Given the description of an element on the screen output the (x, y) to click on. 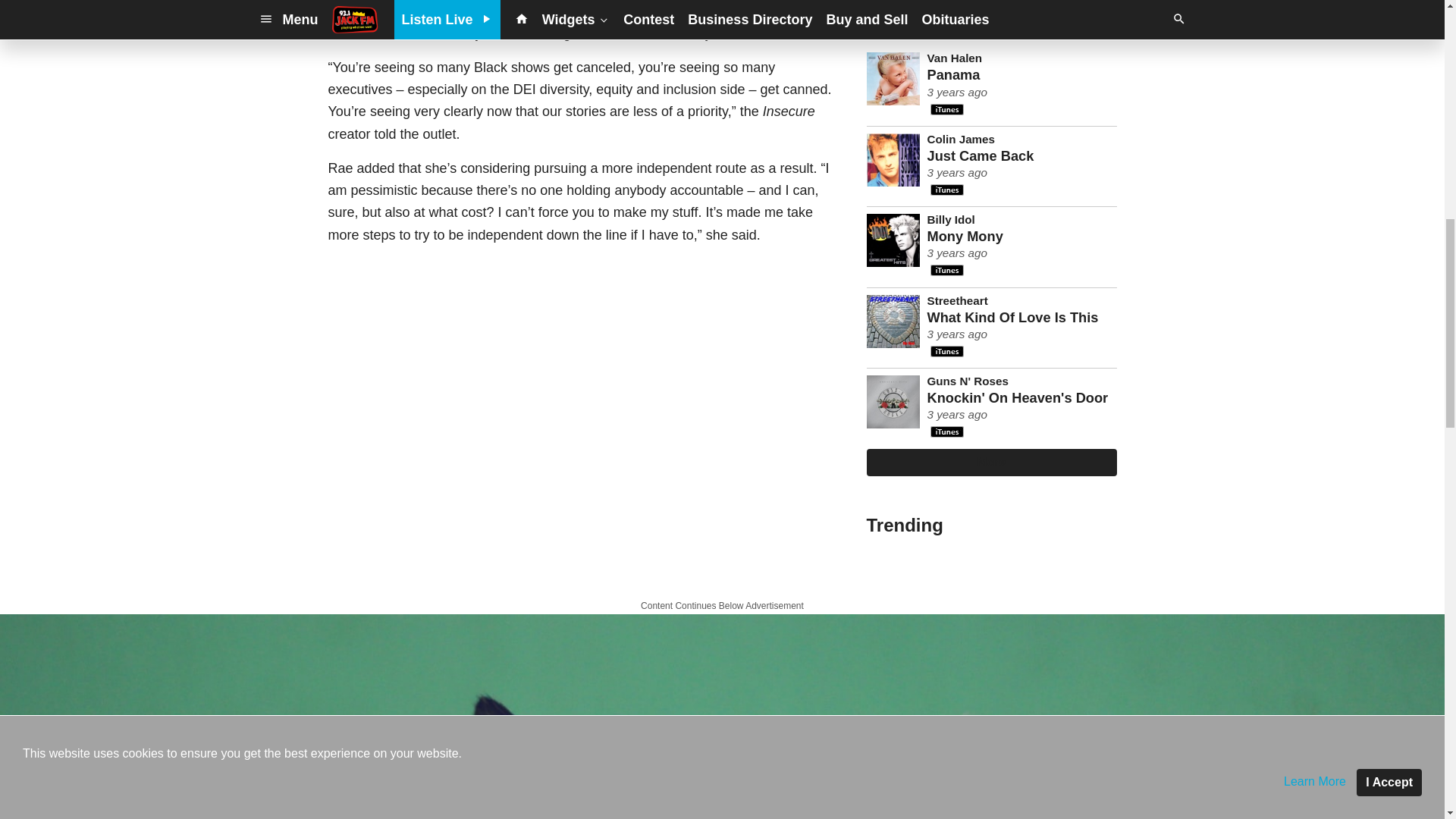
More (991, 461)
